Given the description of an element on the screen output the (x, y) to click on. 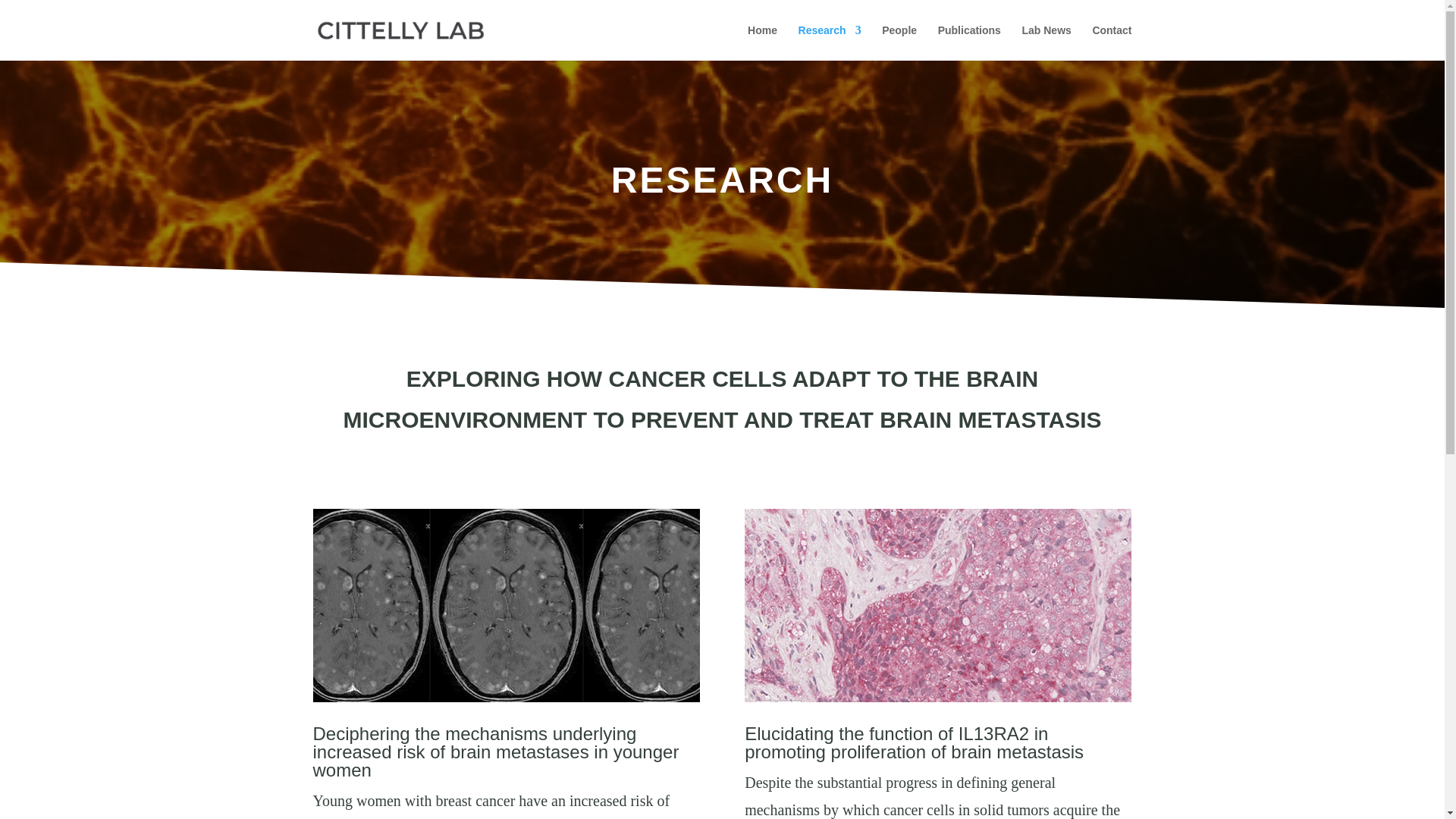
Contact (1111, 42)
Research (829, 42)
Publications (969, 42)
Lab News (1046, 42)
People (899, 42)
